Given the description of an element on the screen output the (x, y) to click on. 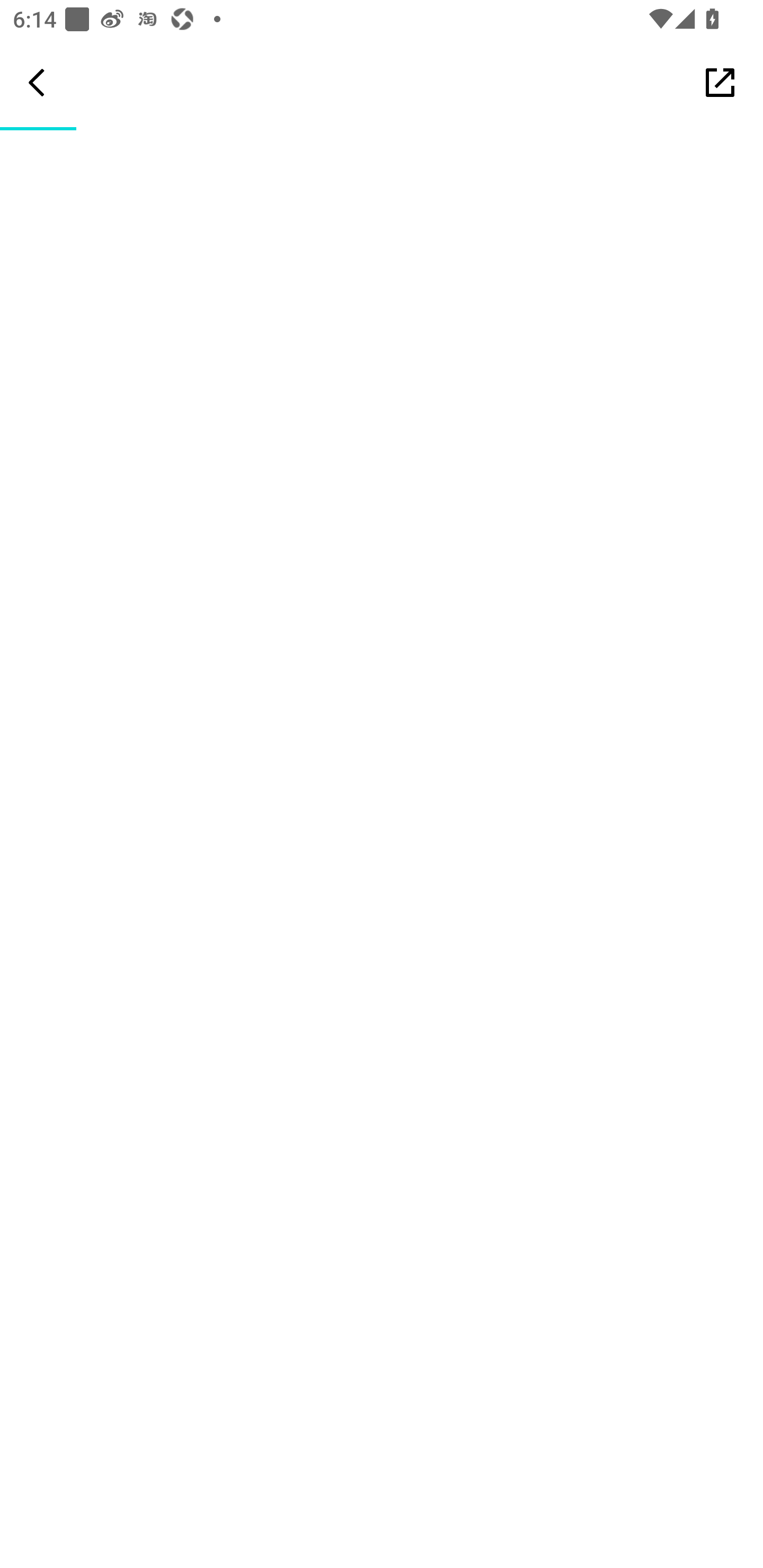
Navigate up (36, 82)
